Given the description of an element on the screen output the (x, y) to click on. 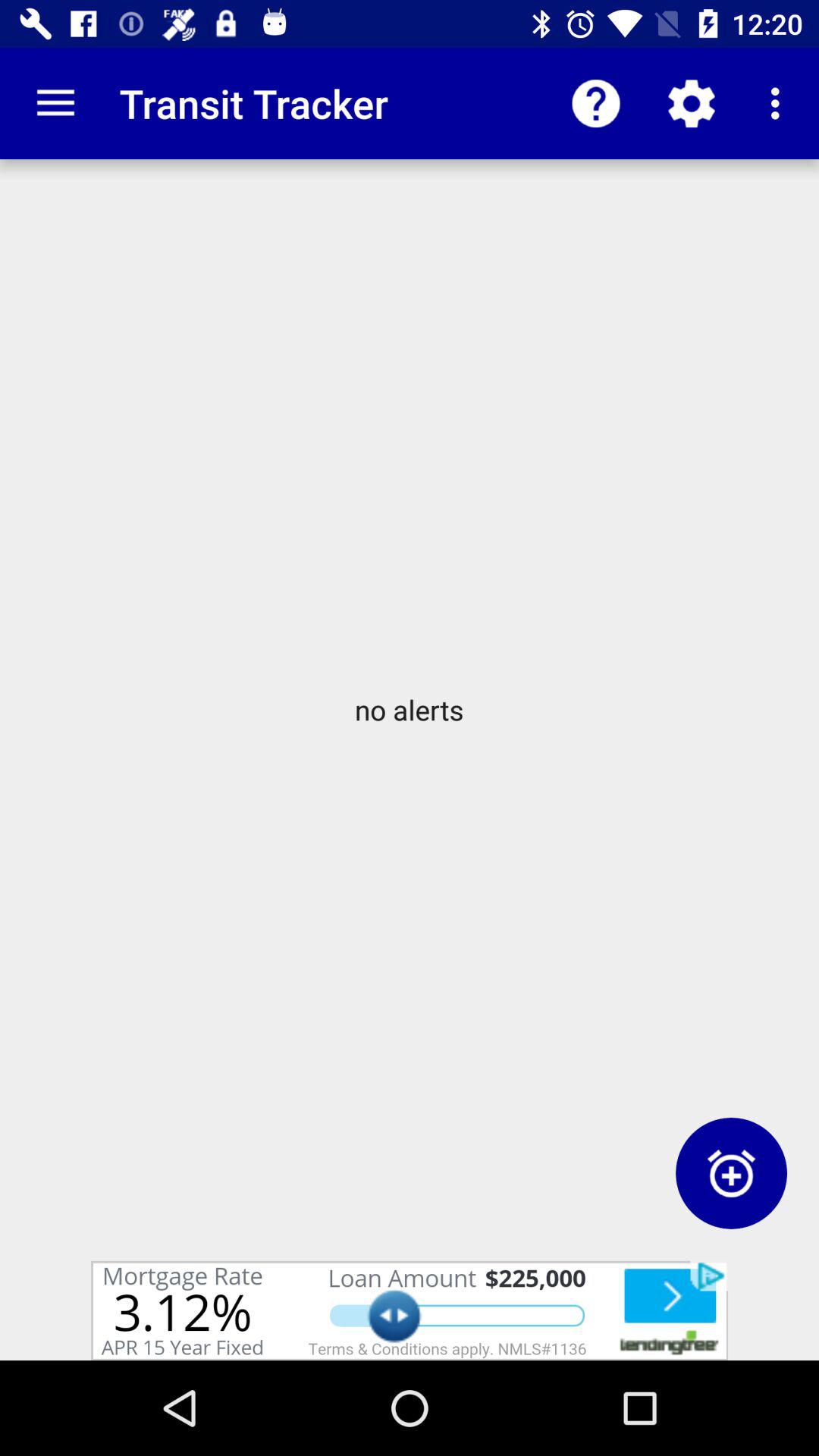
add an alert (731, 1173)
